Given the description of an element on the screen output the (x, y) to click on. 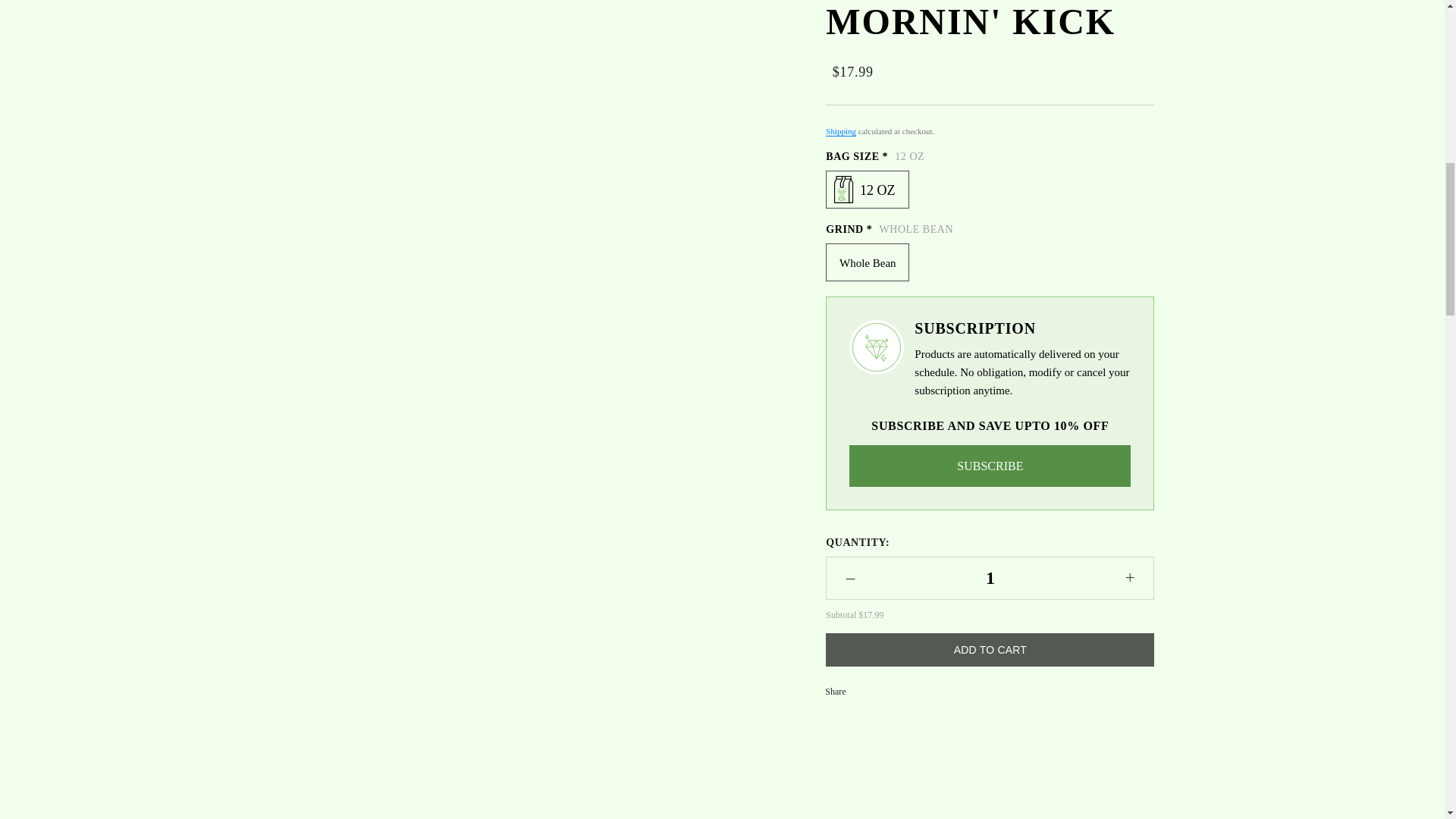
1 (990, 158)
ADD TO CART (989, 230)
SUBSCRIBE (989, 46)
